Given the description of an element on the screen output the (x, y) to click on. 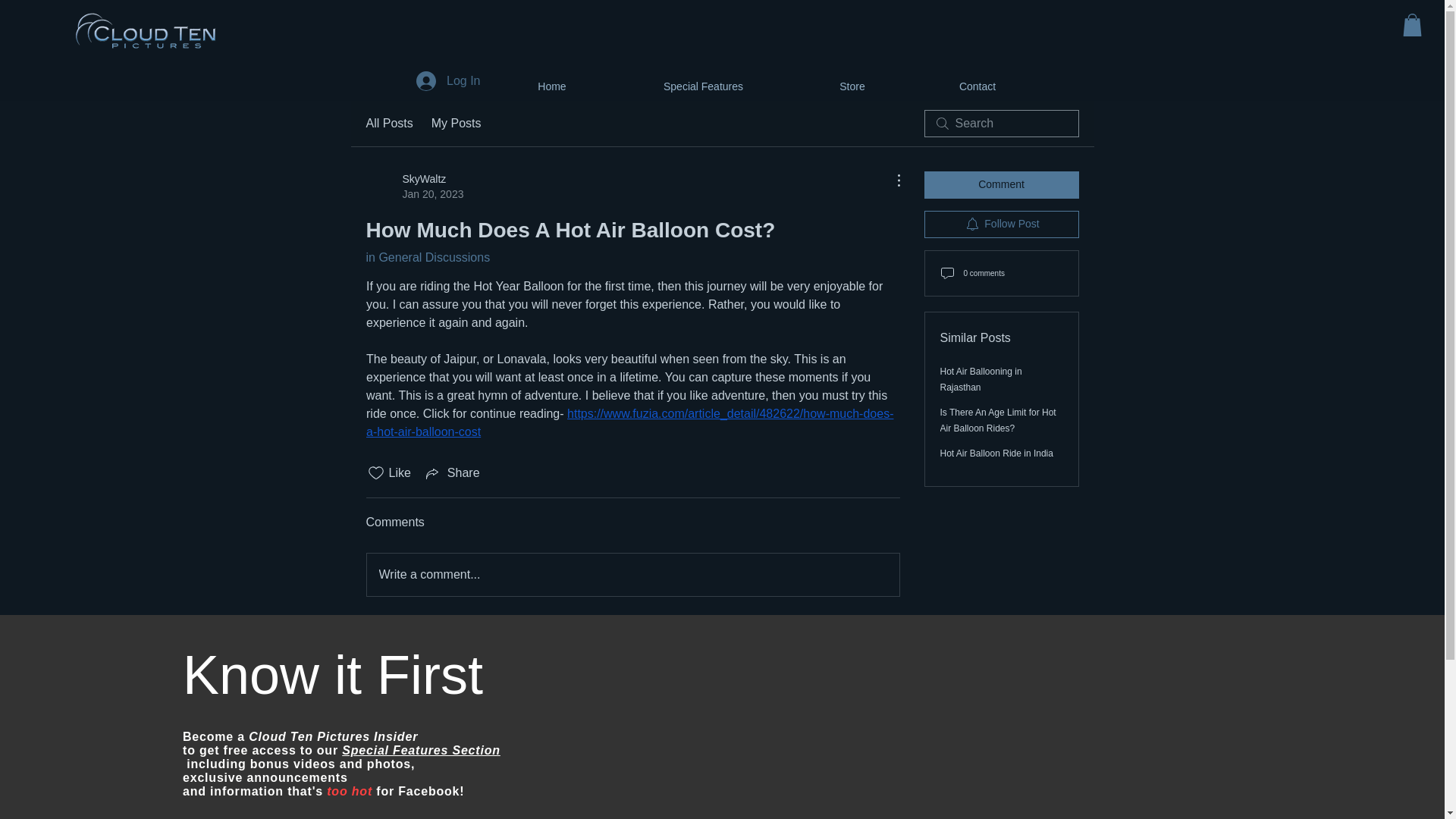
Share (451, 473)
Home (552, 79)
Special Features Section (421, 749)
Follow Post (1000, 224)
My Posts (455, 123)
Is There An Age Limit for Hot Air Balloon Rides? (998, 420)
Hot Air Ballooning in Rajasthan (981, 379)
Write a comment... (632, 574)
in General Discussions (427, 256)
All Posts (388, 123)
Hot Air Balloon Ride in India (996, 452)
Log In (448, 80)
Comment (1000, 185)
Contact (414, 186)
